Given the description of an element on the screen output the (x, y) to click on. 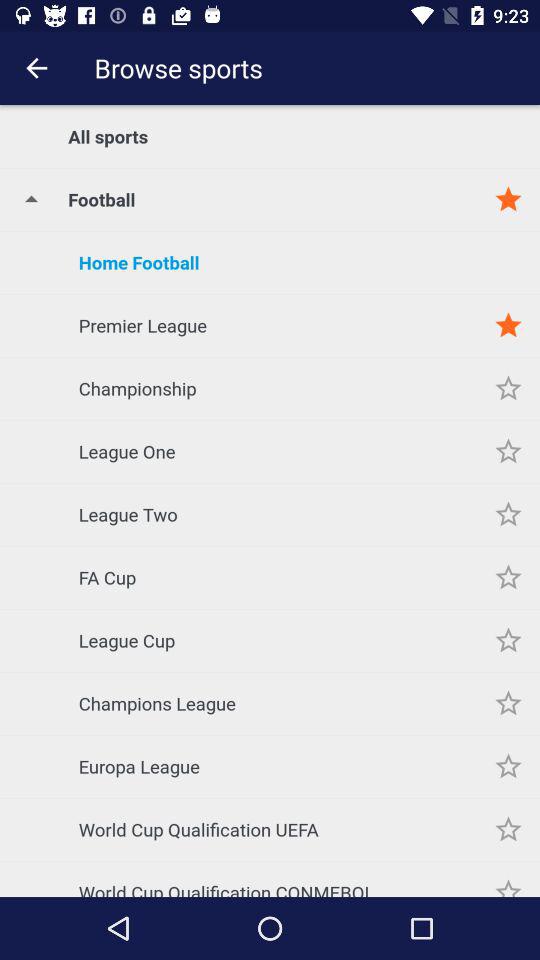
add to favorites (508, 766)
